Given the description of an element on the screen output the (x, y) to click on. 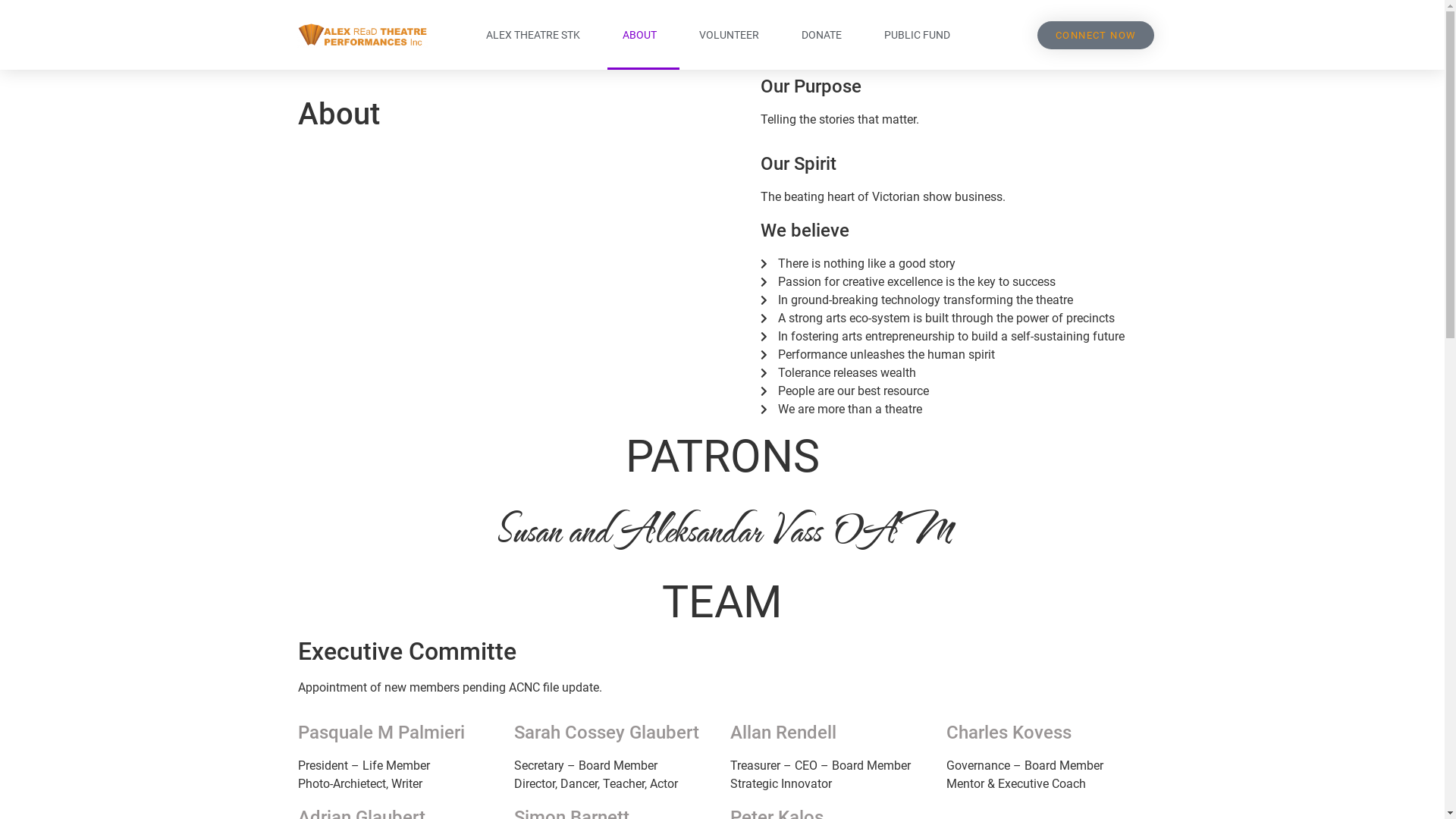
PUBLIC FUND Element type: text (920, 34)
DONATE Element type: text (825, 34)
ABOUT Element type: text (643, 34)
CONNECT NOW Element type: text (1095, 35)
VOLUNTEER Element type: text (732, 34)
ALEX THEATRE STK Element type: text (536, 34)
